Given the description of an element on the screen output the (x, y) to click on. 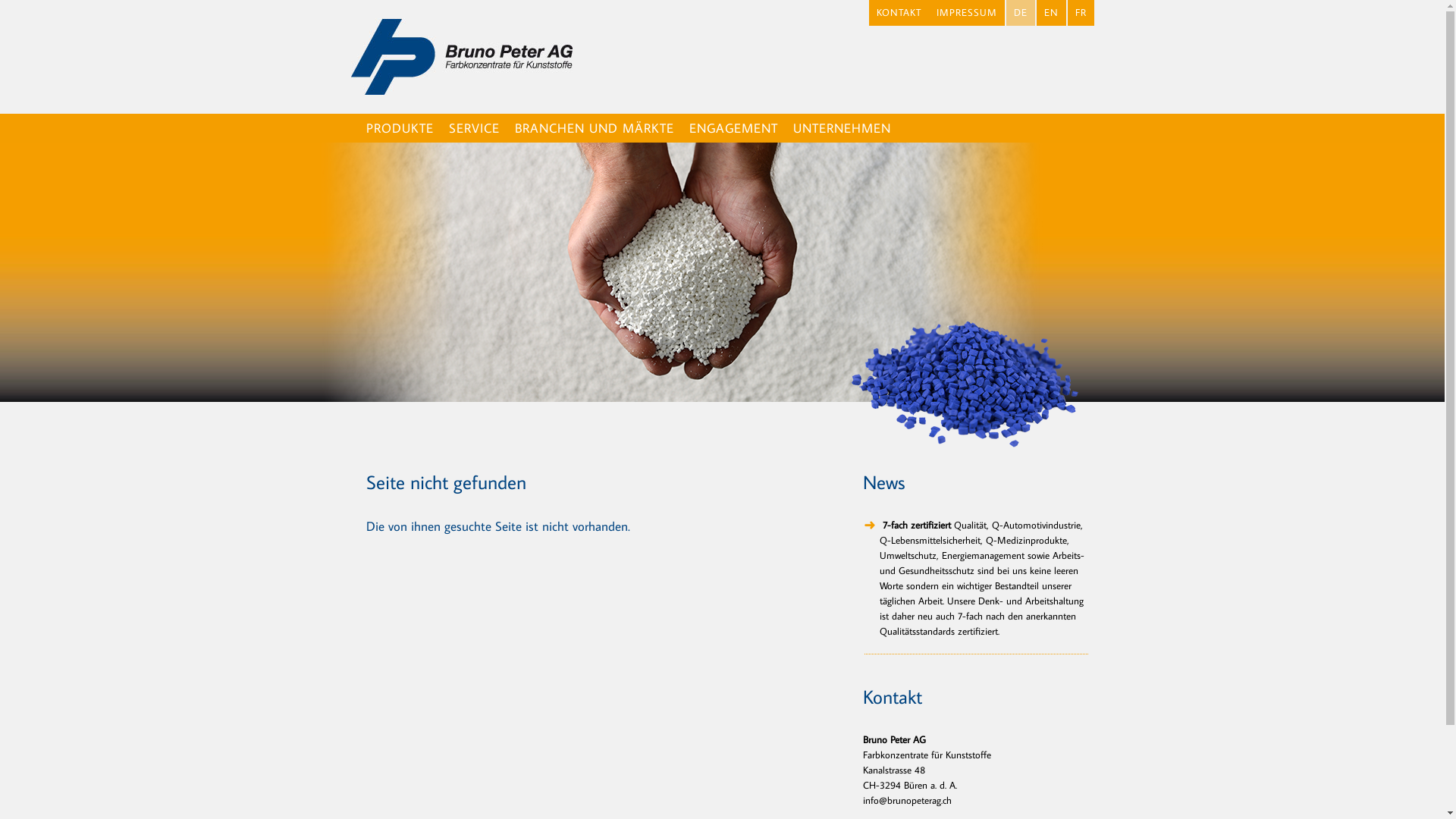
FR Element type: text (1080, 12)
KONTAKT Element type: text (898, 12)
info@brunopeterag.ch Element type: text (906, 799)
DE Element type: text (1019, 12)
UNTERNEHMEN Element type: text (841, 127)
EN Element type: text (1050, 12)
IMPRESSUM Element type: text (966, 12)
SERVICE Element type: text (474, 127)
ENGAGEMENT Element type: text (732, 127)
 7-fach zertifiziert Element type: text (914, 524)
PRODUKTE Element type: text (398, 127)
